Given the description of an element on the screen output the (x, y) to click on. 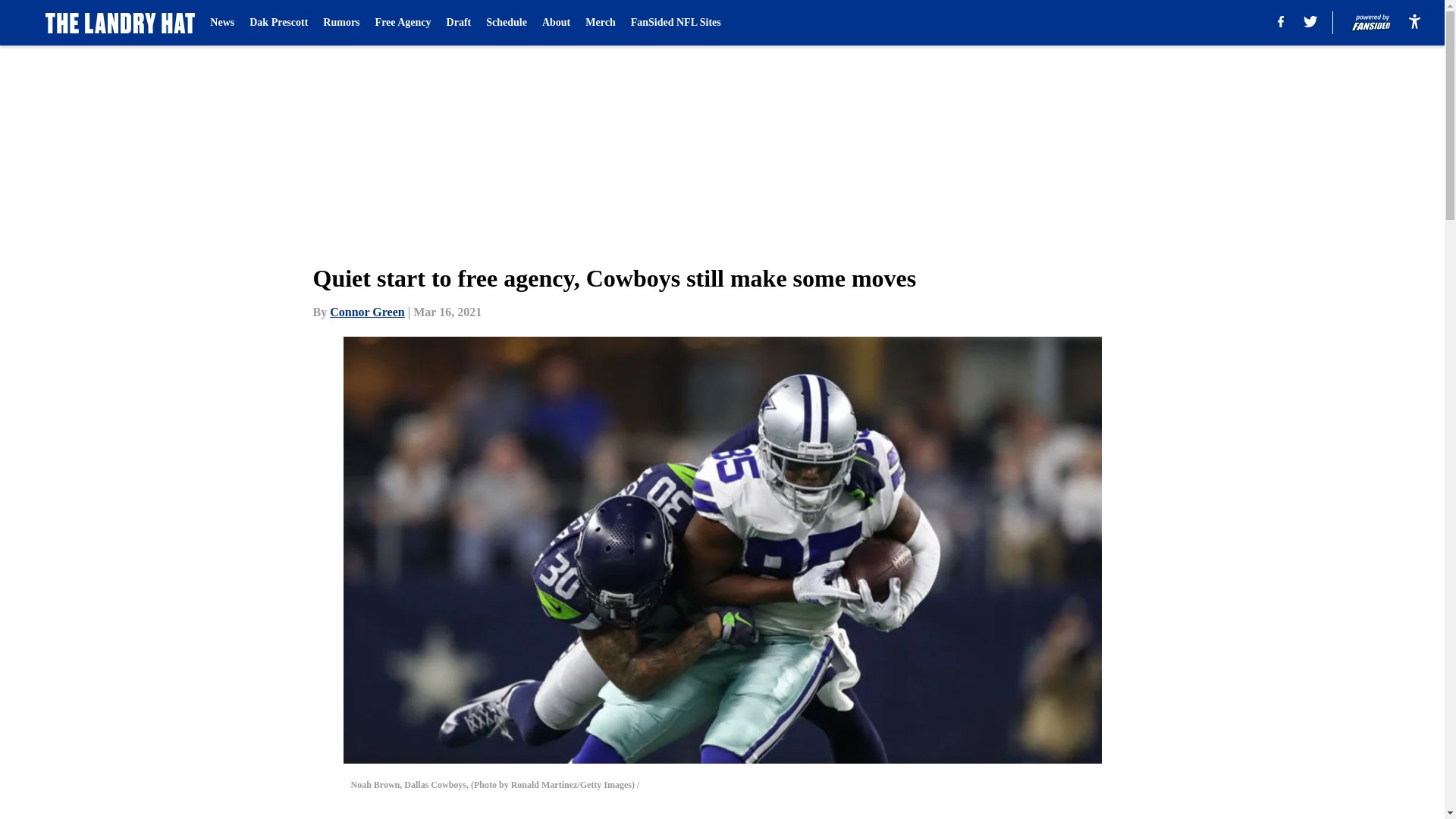
Rumors (341, 22)
News (221, 22)
Schedule (506, 22)
About (555, 22)
Free Agency (402, 22)
Dak Prescott (277, 22)
FanSided NFL Sites (675, 22)
Connor Green (367, 311)
Merch (599, 22)
Draft (458, 22)
